Given the description of an element on the screen output the (x, y) to click on. 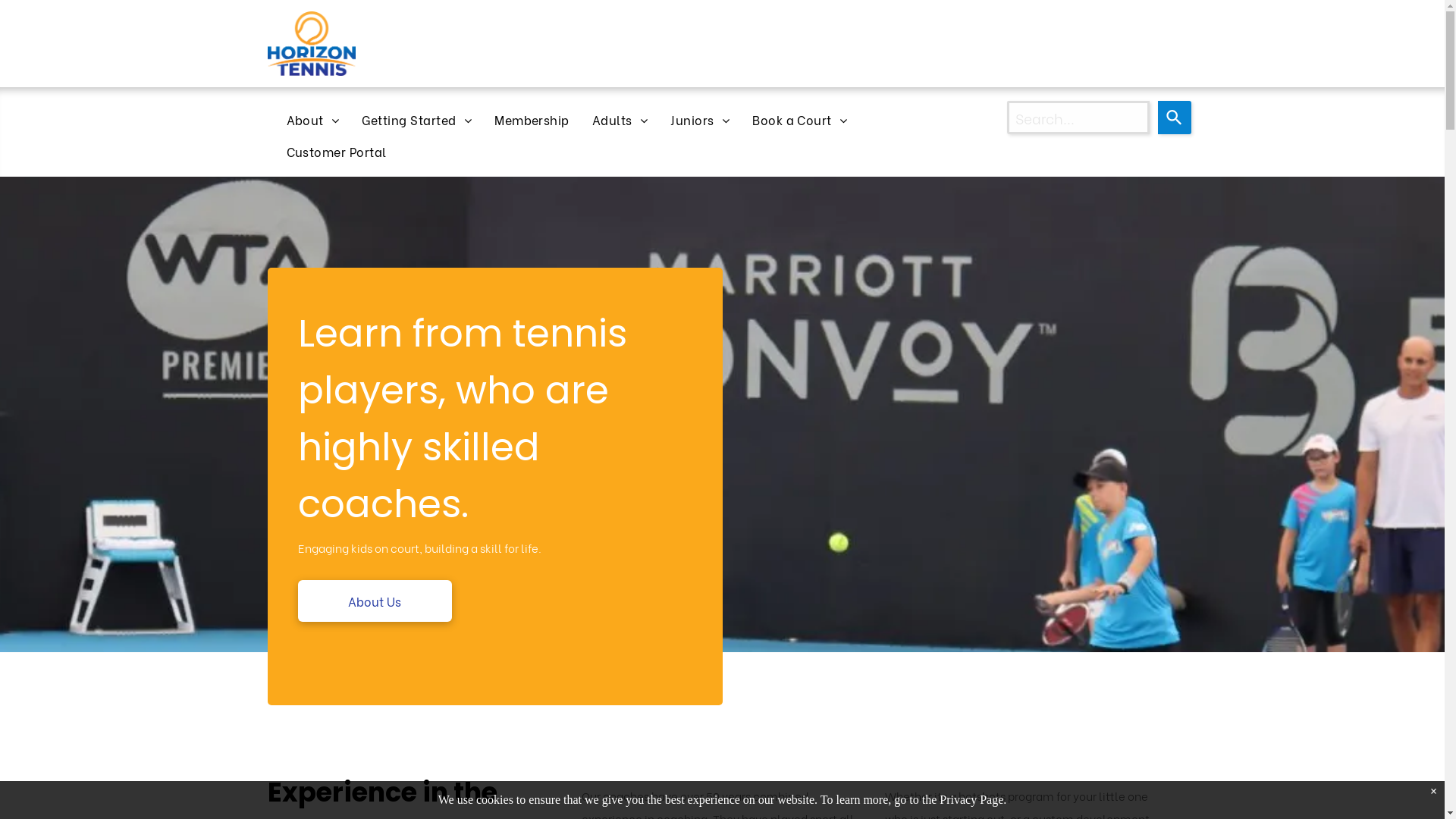
Adults Element type: text (619, 119)
Membership Element type: text (531, 119)
About Element type: text (312, 119)
Customer Portal Element type: text (335, 151)
Getting Started Element type: text (416, 119)
About Us Element type: text (374, 600)
Juniors Element type: text (699, 119)
Book a Court Element type: text (799, 119)
